Given the description of an element on the screen output the (x, y) to click on. 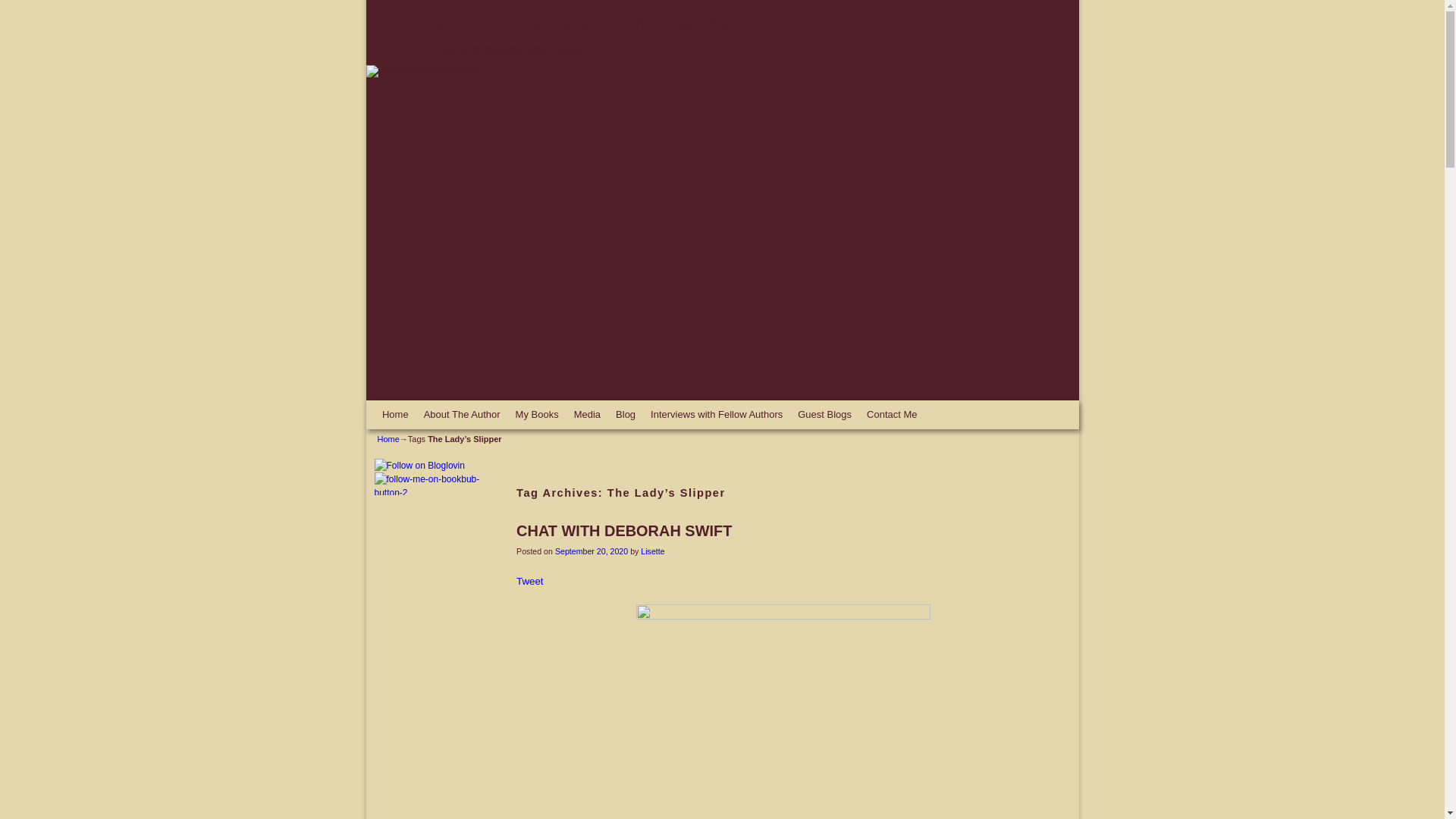
Guest Blogs (824, 414)
View all posts by Lisette (651, 551)
Lisette (651, 551)
My Books (537, 414)
Skip to secondary content (408, 405)
Home (387, 438)
CHAT WITH DEBORAH SWIFT (624, 530)
Interviews with Fellow Authors (716, 414)
Contact Me (891, 414)
Follow Lisette Brodey's author website on Bloglovin (419, 465)
